Given the description of an element on the screen output the (x, y) to click on. 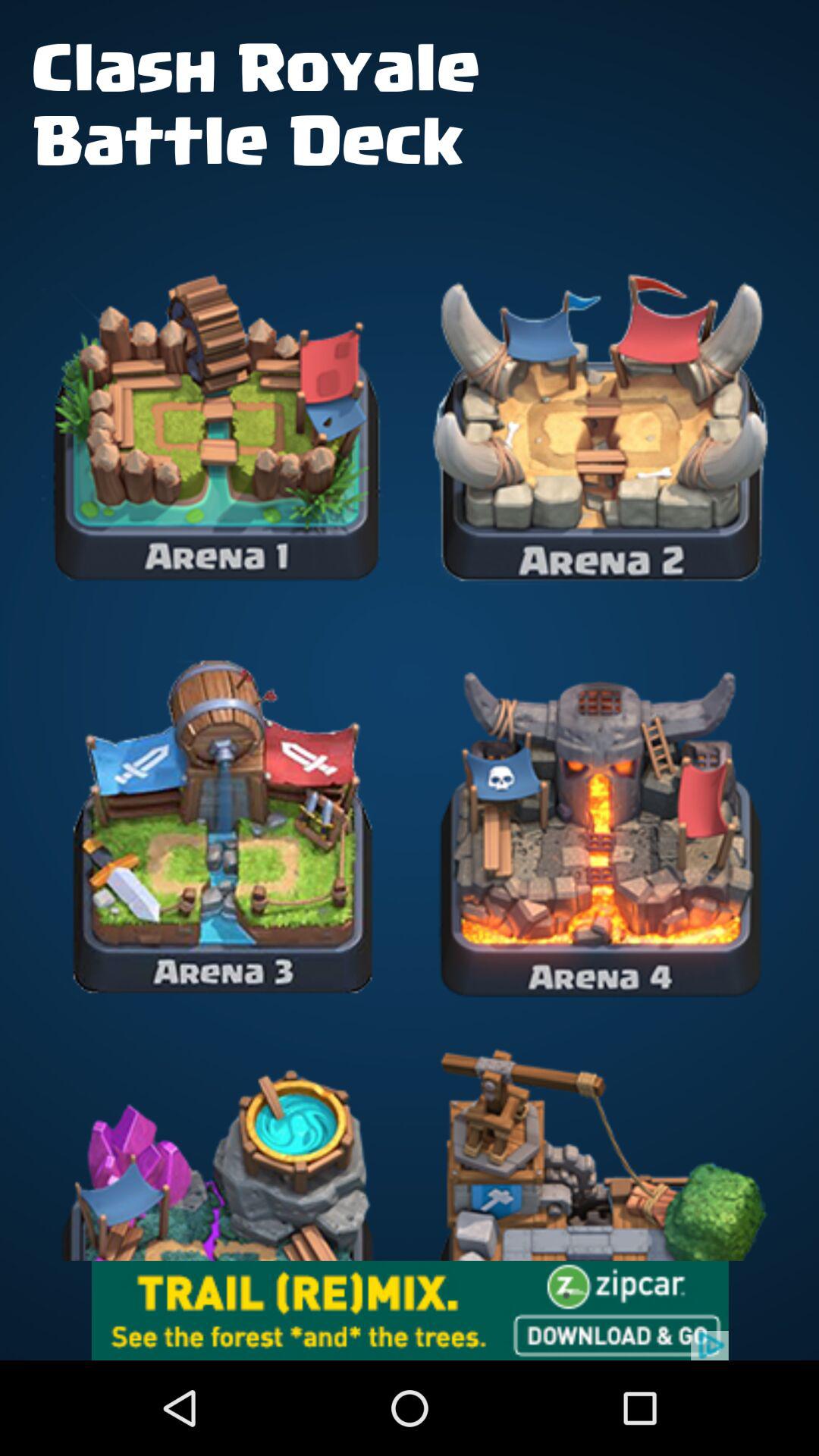
advertisement click (409, 1310)
